Given the description of an element on the screen output the (x, y) to click on. 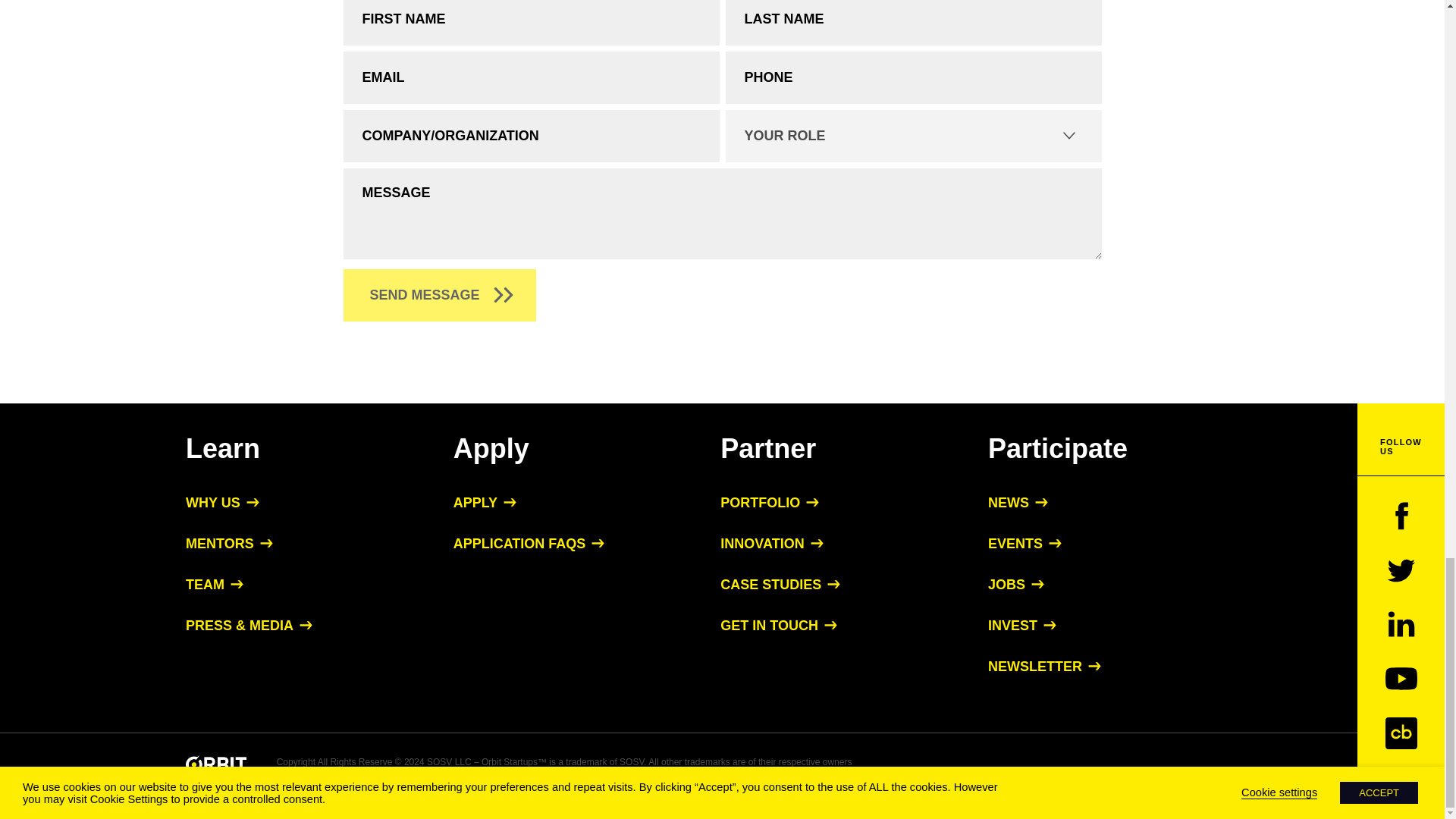
TEAM (214, 584)
WHY US (222, 502)
MENTORS (229, 543)
Learn (223, 448)
SEND MESSAGE (438, 295)
